Given the description of an element on the screen output the (x, y) to click on. 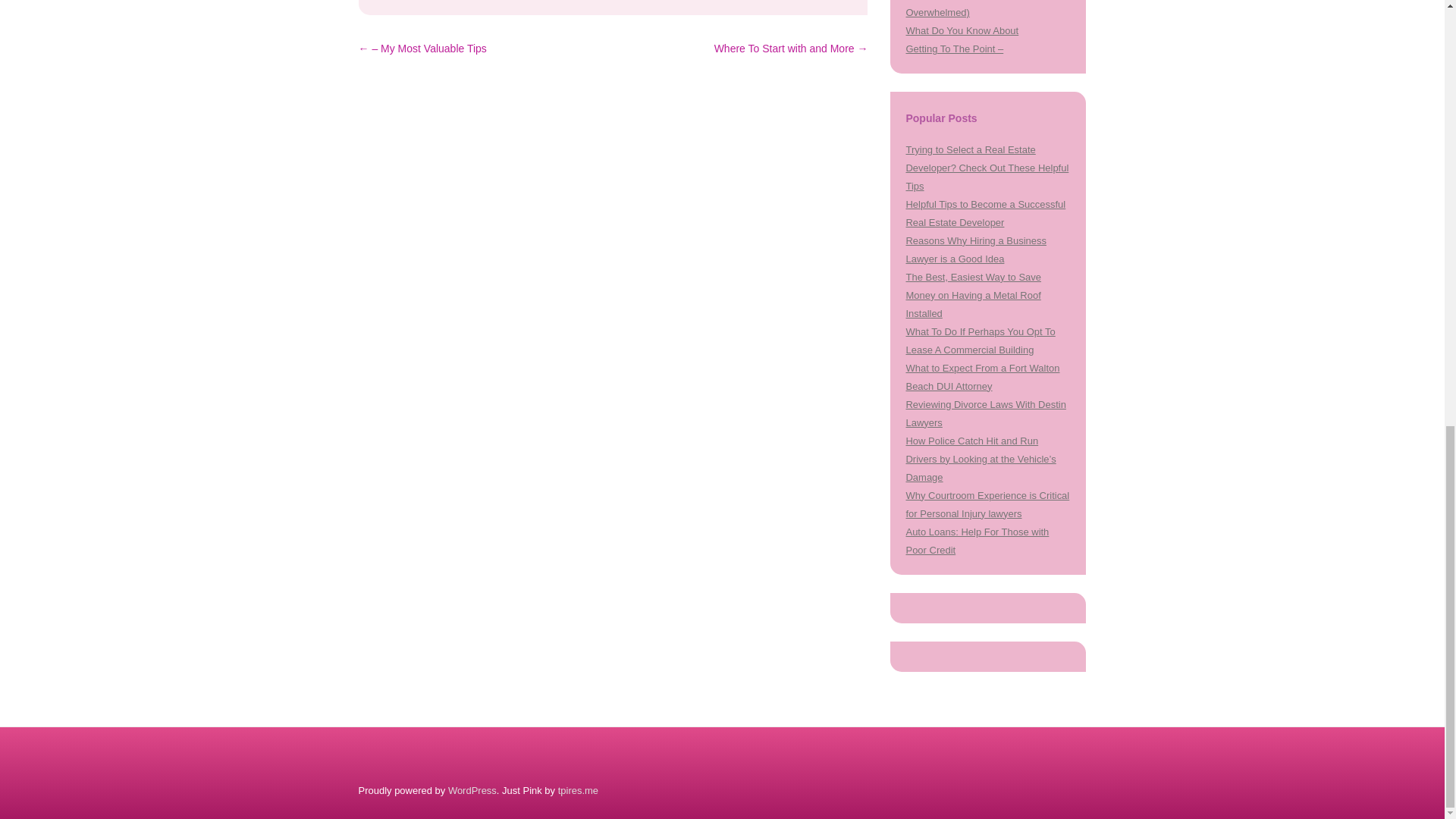
Reviewing Divorce Laws With Destin Lawyers (985, 413)
Auto Loans: Help For Those with Poor Credit (976, 541)
What to Expect From a Fort Walton Beach DUI Attorney (982, 377)
Reasons Why Hiring a Business Lawyer is a Good Idea (975, 249)
Helpful Tips to Become a Successful Real Estate Developer (985, 213)
What To Do If Perhaps You Opt To Lease A Commercial Building (979, 340)
